Given the description of an element on the screen output the (x, y) to click on. 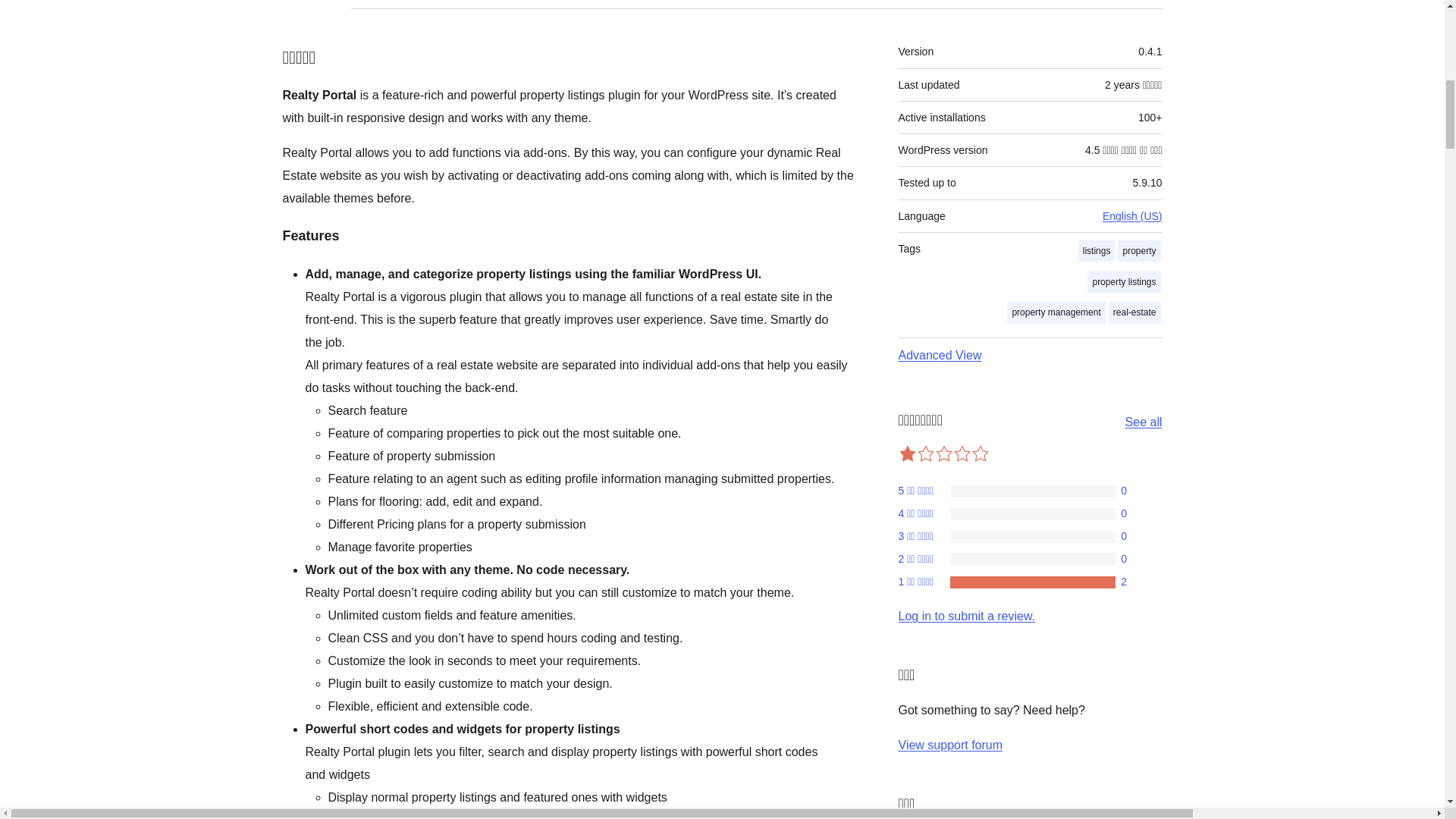
Development (565, 4)
Installation (466, 4)
Log in to WordPress.org (966, 615)
Details (316, 4)
